Given the description of an element on the screen output the (x, y) to click on. 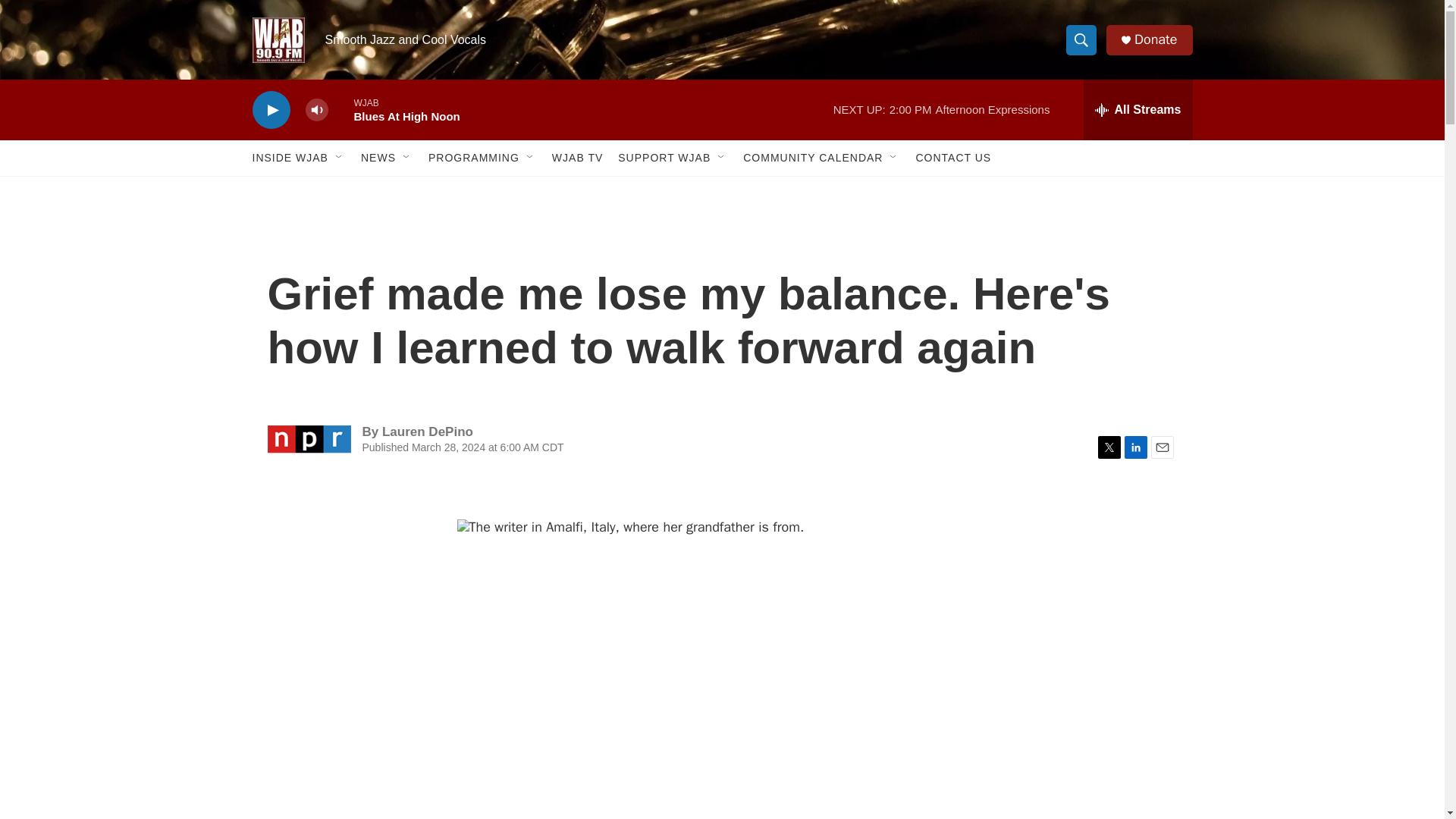
Donate (1155, 39)
Show Search (1080, 39)
